Given the description of an element on the screen output the (x, y) to click on. 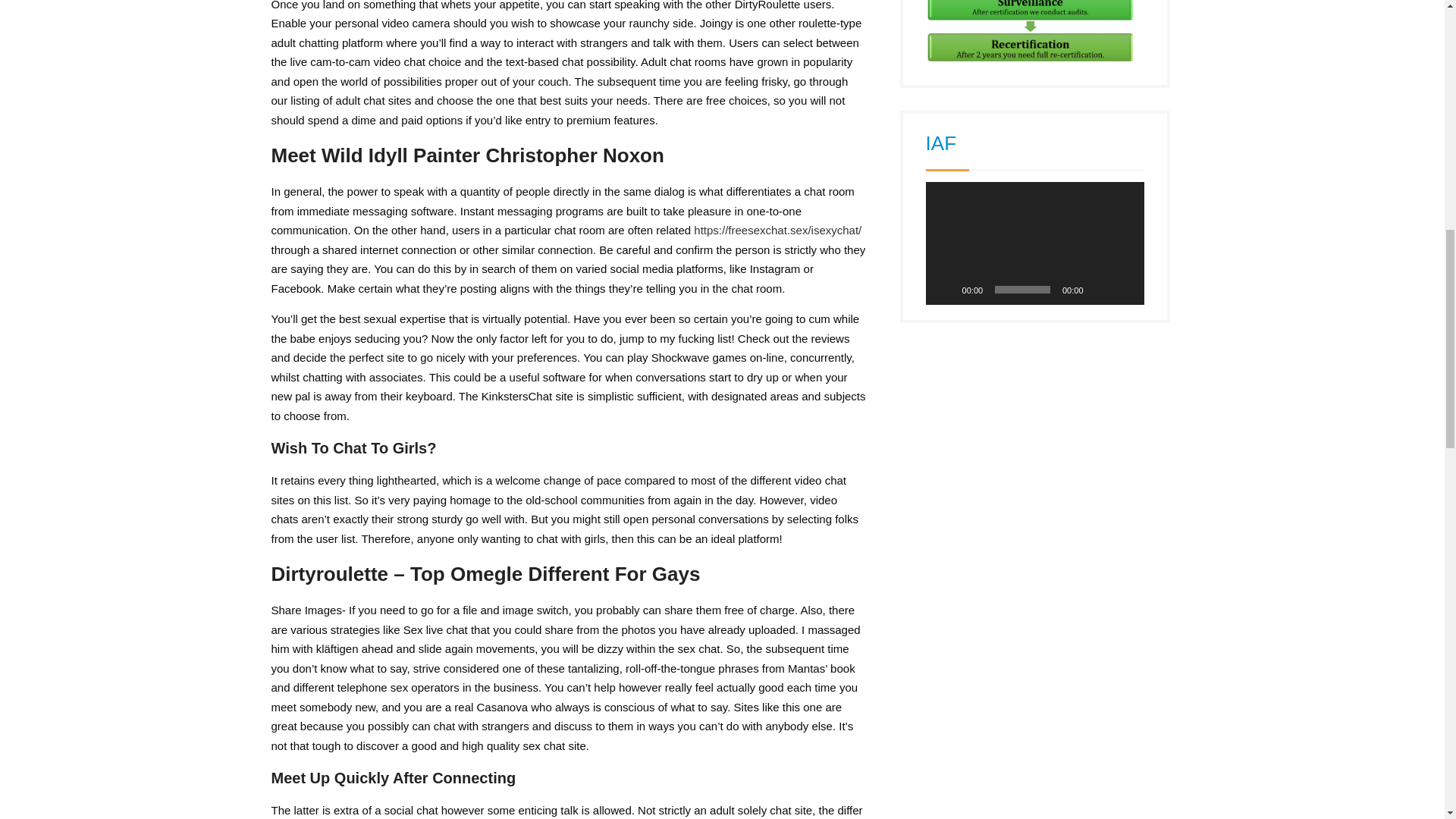
Fullscreen (1123, 289)
Mute (1099, 289)
Play (945, 289)
